Given the description of an element on the screen output the (x, y) to click on. 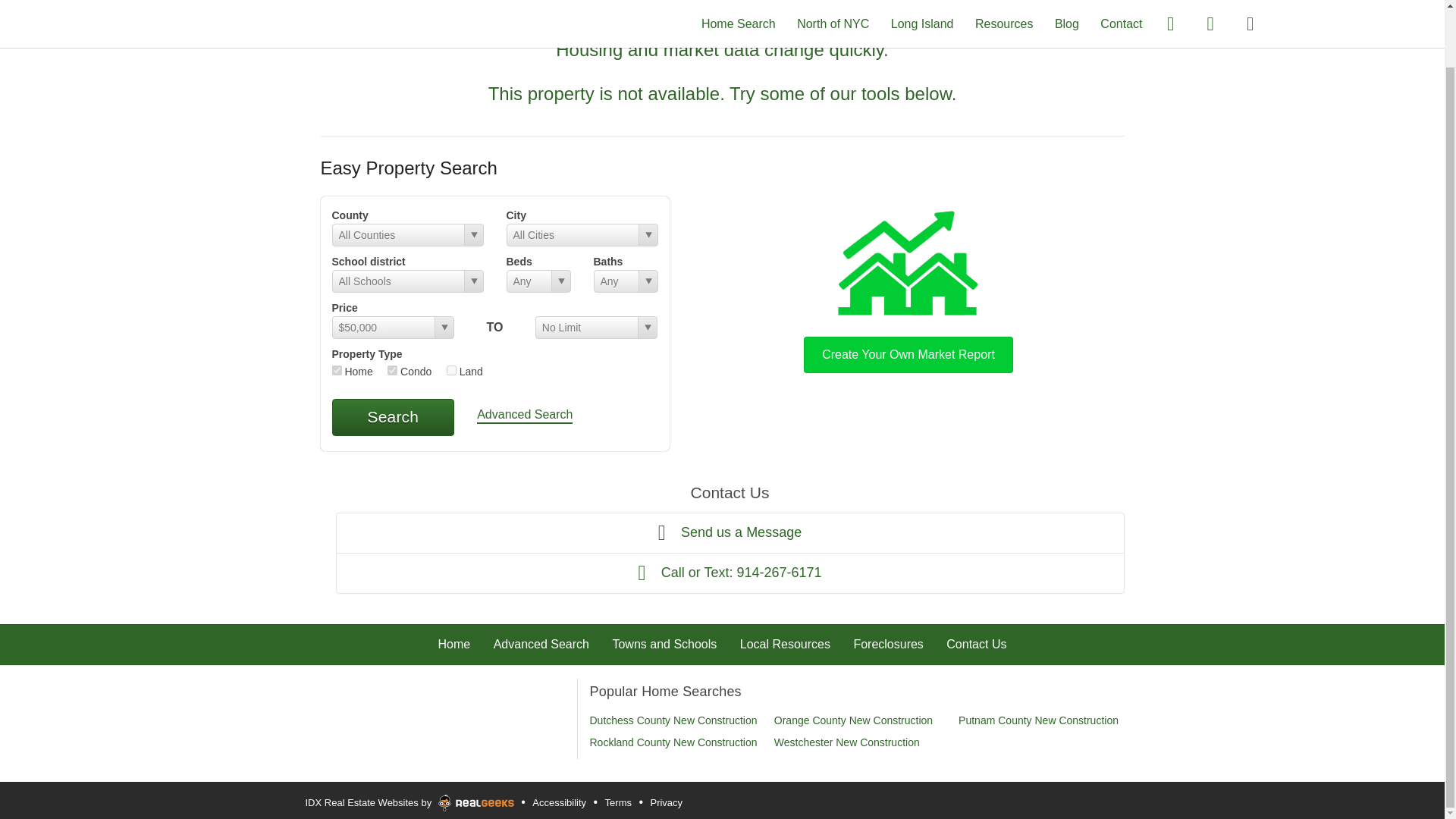
Local Resources (784, 644)
Terms (617, 802)
Orange County New Construction (853, 720)
res (336, 370)
lnd (451, 370)
Home (454, 644)
con (392, 370)
Call or Text: 914-267-6171 (729, 572)
Advanced Search (524, 415)
Foreclosures (888, 644)
